Given the description of an element on the screen output the (x, y) to click on. 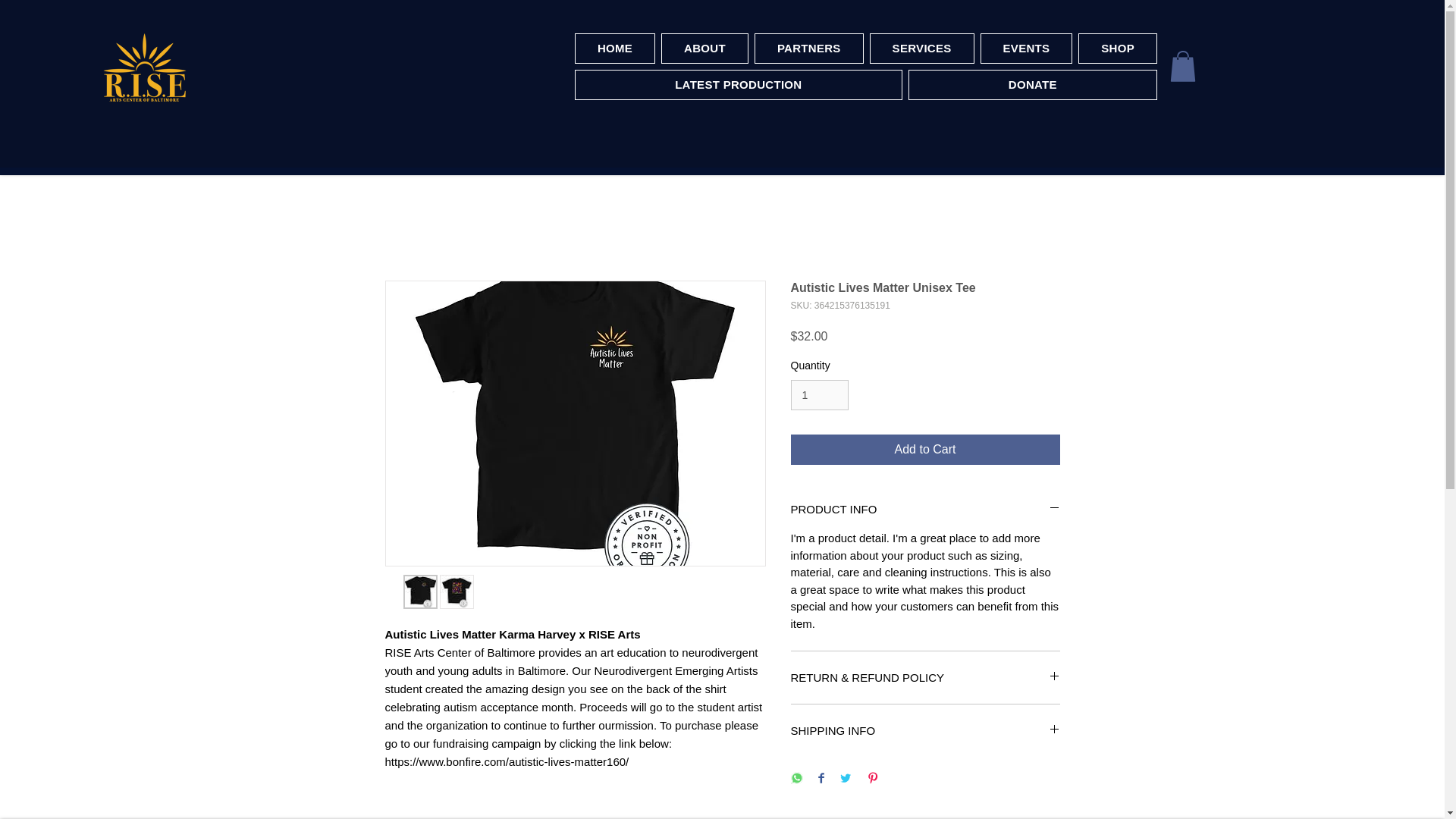
EVENTS (1026, 48)
Add to Cart (924, 449)
DONATE (1032, 84)
PRODUCT INFO (924, 508)
HOME (615, 48)
PARTNERS (808, 48)
SHOP (1117, 48)
SHIPPING INFO (924, 730)
LATEST PRODUCTION (738, 84)
1 (818, 395)
